Given the description of an element on the screen output the (x, y) to click on. 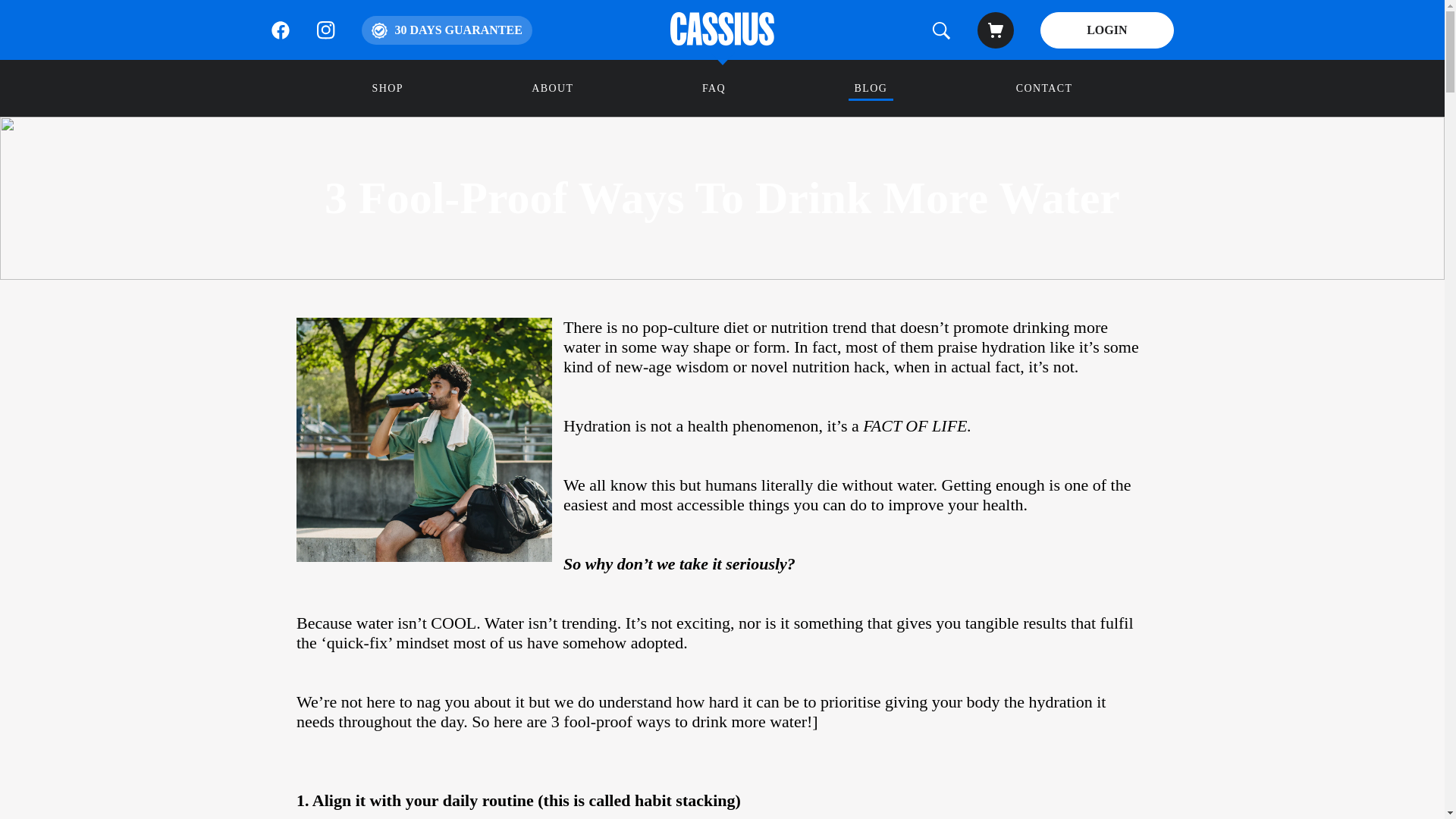
SHOP (387, 87)
CONTACT (1044, 87)
LOGIN (1107, 30)
BLOG (870, 87)
ABOUT (552, 87)
FAQ (721, 88)
